Given the description of an element on the screen output the (x, y) to click on. 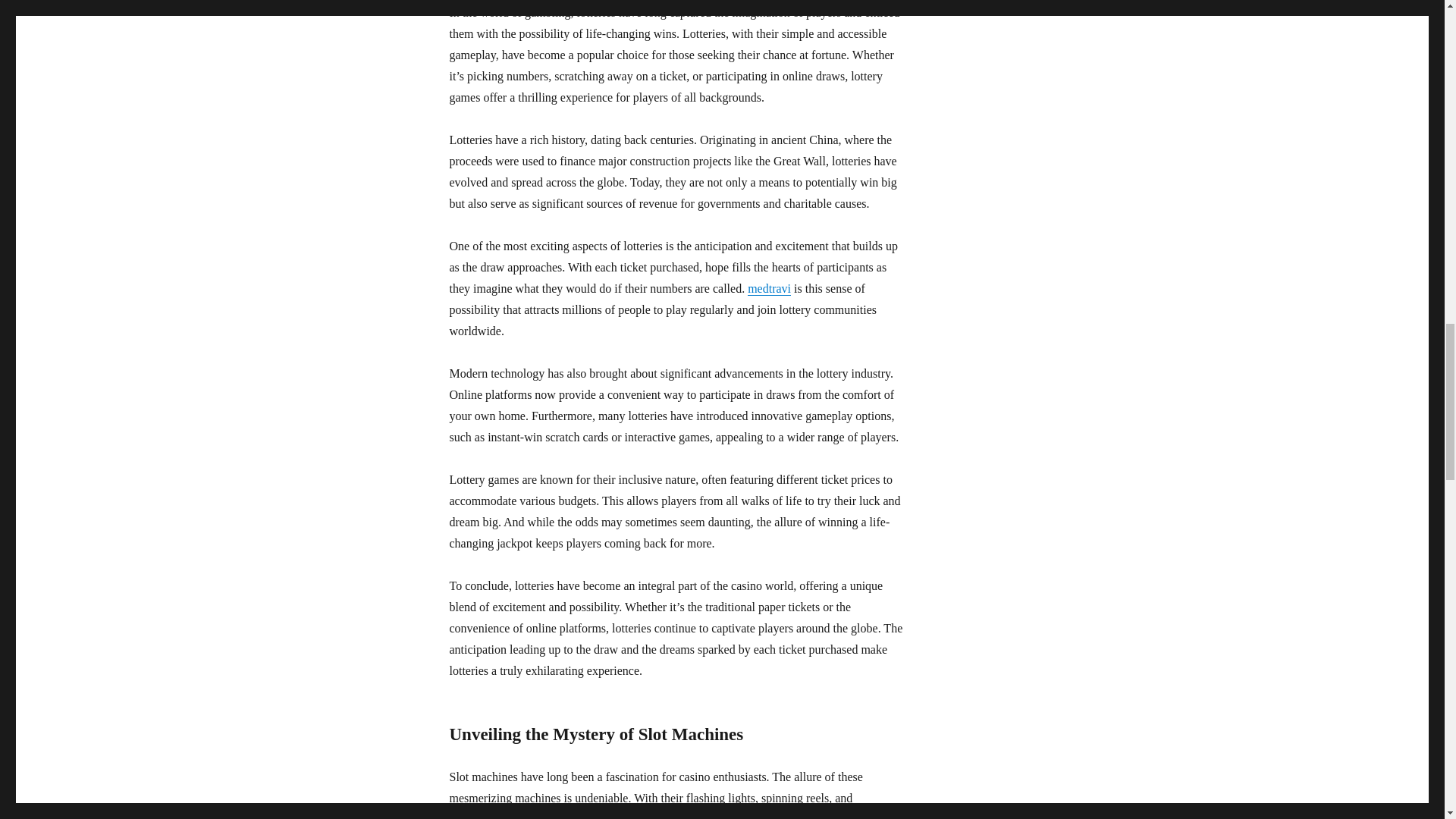
medtravi (769, 287)
